Given the description of an element on the screen output the (x, y) to click on. 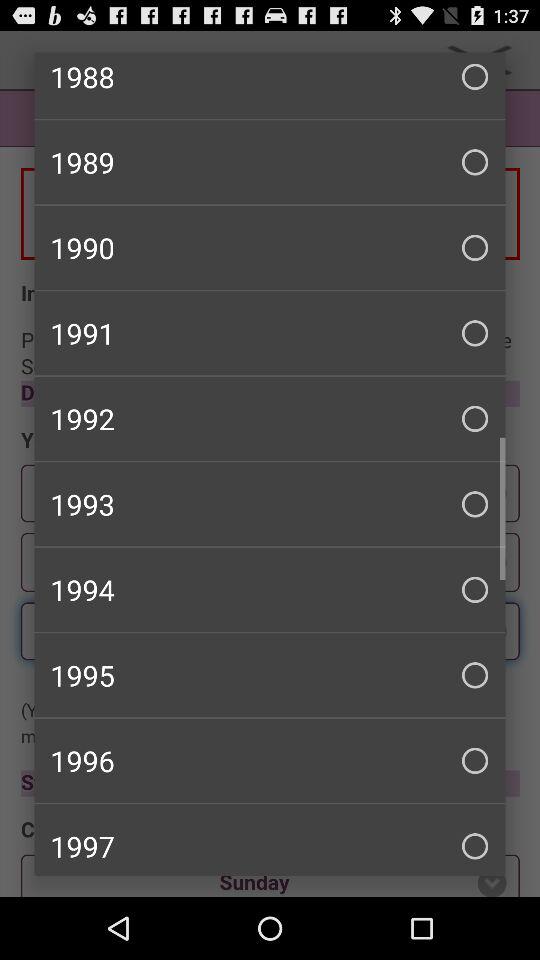
launch the item above 1997 icon (269, 760)
